Given the description of an element on the screen output the (x, y) to click on. 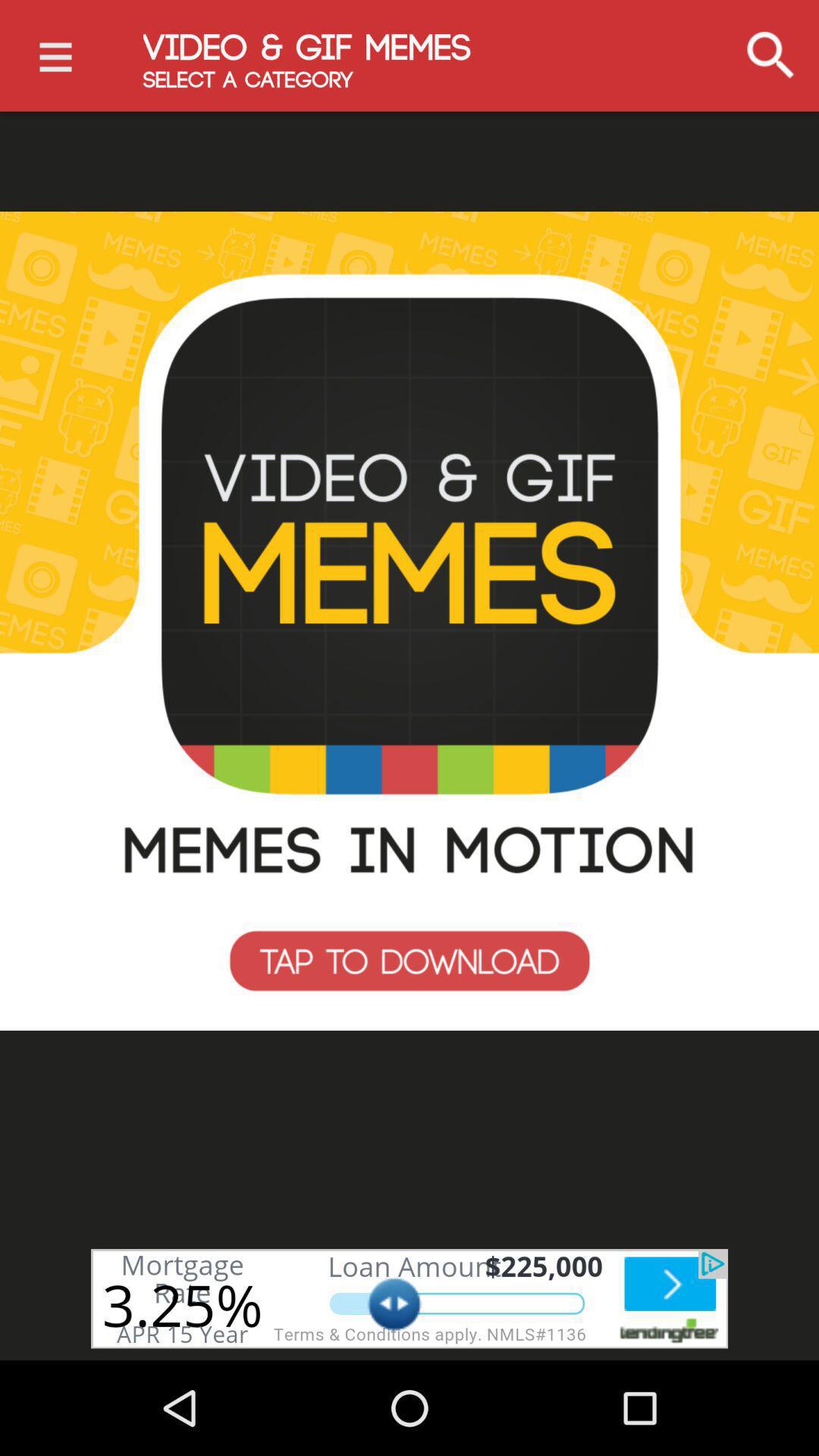
go to advertising partner (409, 1298)
